Given the description of an element on the screen output the (x, y) to click on. 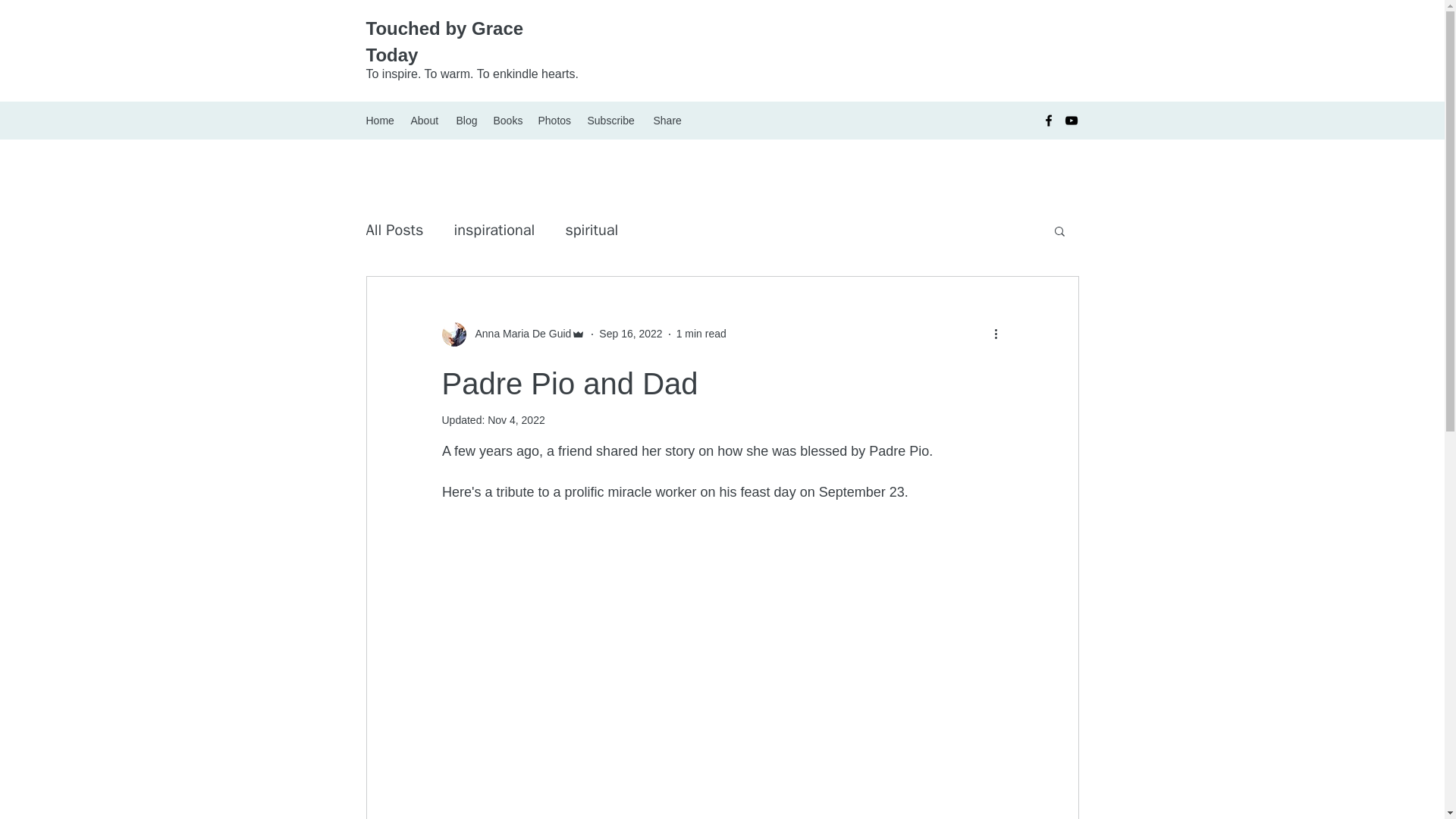
All Posts (394, 230)
Photos (555, 119)
Books (506, 119)
Blog (467, 119)
About (425, 119)
Subscribe (612, 119)
Anna Maria De Guid (517, 333)
inspirational (493, 230)
Home (380, 119)
Share (668, 119)
Nov 4, 2022 (515, 419)
spiritual (590, 230)
1 min read (701, 333)
Sep 16, 2022 (630, 333)
